Given the description of an element on the screen output the (x, y) to click on. 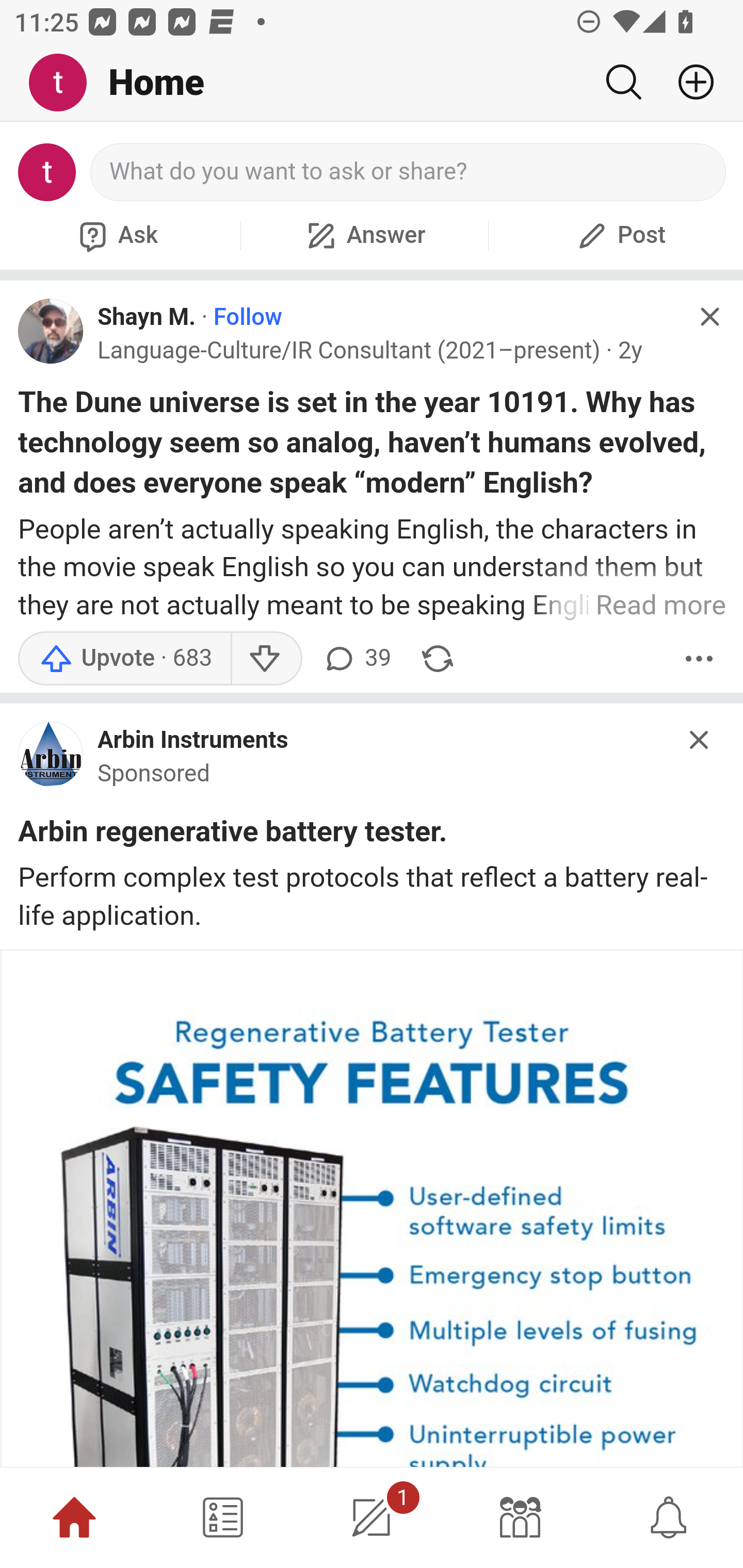
Me (64, 83)
Search (623, 82)
Add (688, 82)
What do you want to ask or share? (408, 172)
Ask (116, 234)
Answer (364, 234)
Post (618, 234)
Hide (709, 316)
Profile photo for Shayn M. (50, 330)
Shayn M. (146, 316)
Follow (248, 316)
Upvote (124, 658)
Downvote (266, 658)
39 comments (356, 658)
Share (437, 658)
More (699, 658)
Hide (699, 739)
main-qimg-e3204e8ac522f2bc4d03db14dfcf0739 (50, 759)
Arbin Instruments (193, 740)
Arbin regenerative battery tester. (232, 834)
1 (371, 1517)
